Given the description of an element on the screen output the (x, y) to click on. 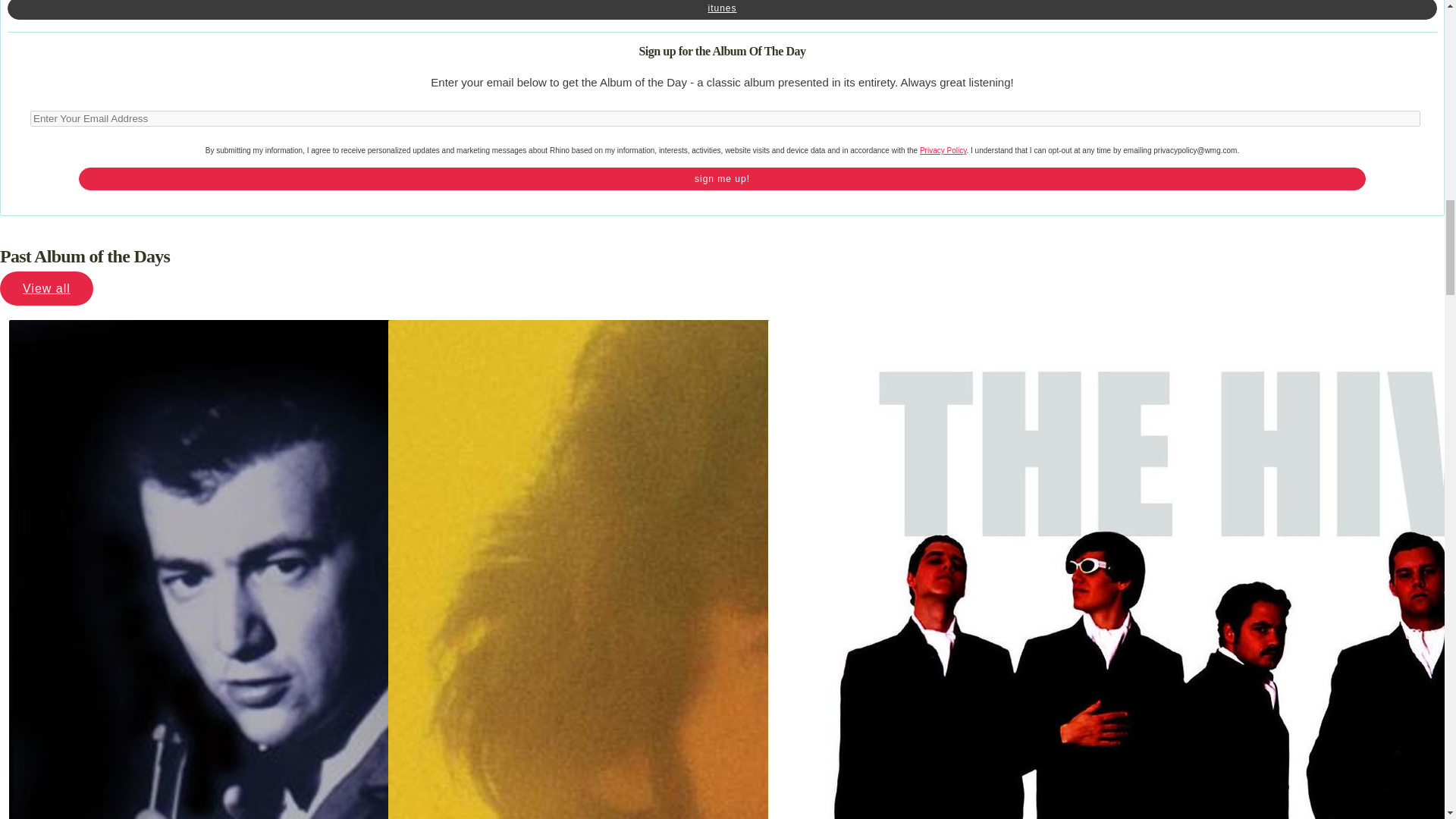
Sign Me Up! (721, 178)
